Given the description of an element on the screen output the (x, y) to click on. 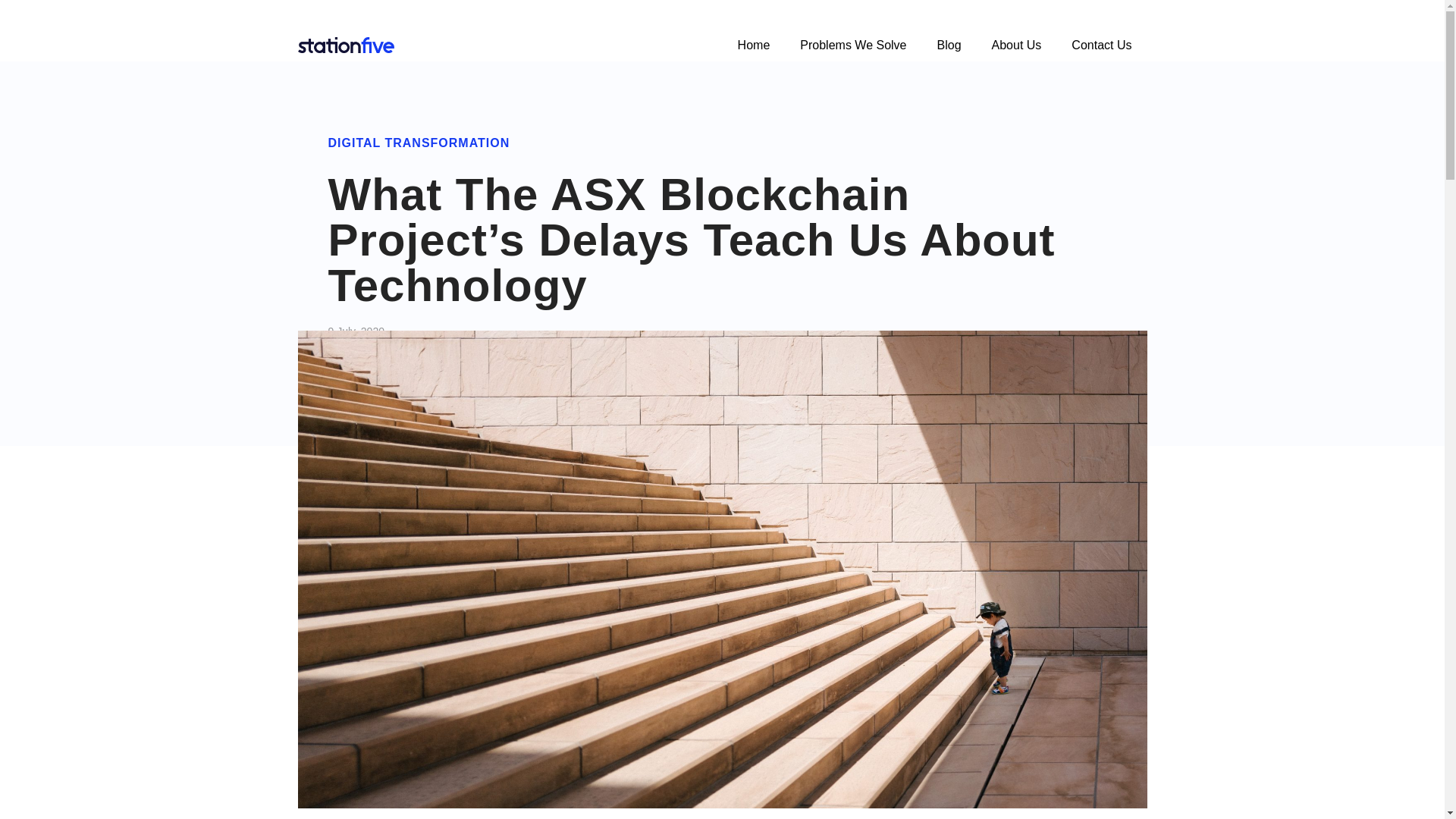
Home (754, 45)
About Us (1016, 45)
Contact Us (1102, 45)
Problems We Solve (852, 45)
Blog (948, 45)
DIGITAL TRANSFORMATION (418, 142)
